Given the description of an element on the screen output the (x, y) to click on. 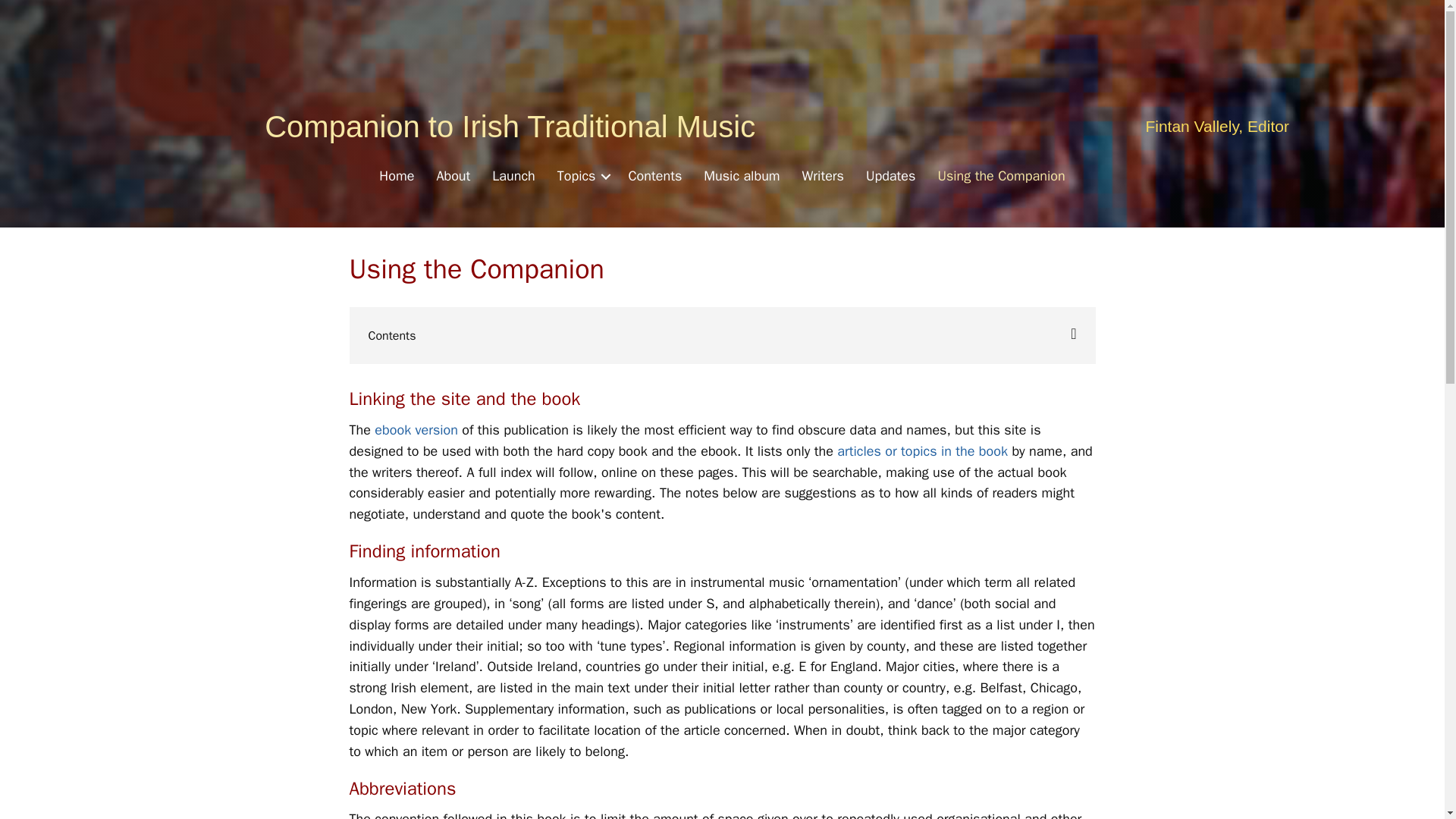
Music album (741, 176)
Fintan Vallely, Editor (1216, 126)
Companion to Irish Traditional Music (509, 126)
articles or topics in the book (922, 451)
Updates (891, 176)
Launch (512, 176)
Writers (823, 176)
About (452, 176)
Contents (655, 176)
Fintan Vallely, Editor (1216, 126)
